Given the description of an element on the screen output the (x, y) to click on. 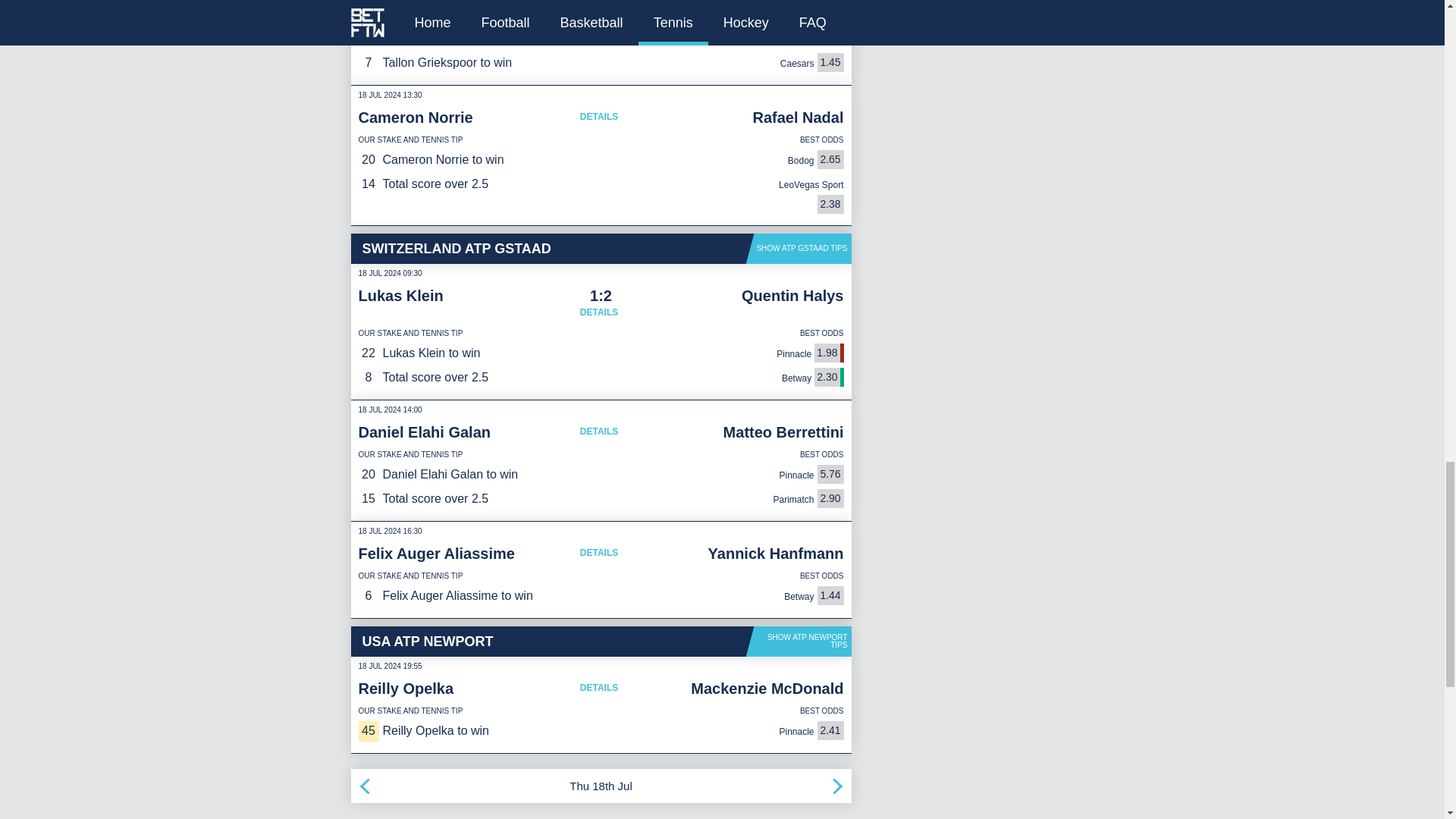
DETAILS (599, 687)
DETAILS (599, 19)
DETAILS (599, 312)
DETAILS (599, 116)
DETAILS (599, 552)
SHOW ATP NEWPORT TIPS (799, 641)
DETAILS (599, 431)
SHOW ATP GSTAAD TIPS (799, 248)
